Given the description of an element on the screen output the (x, y) to click on. 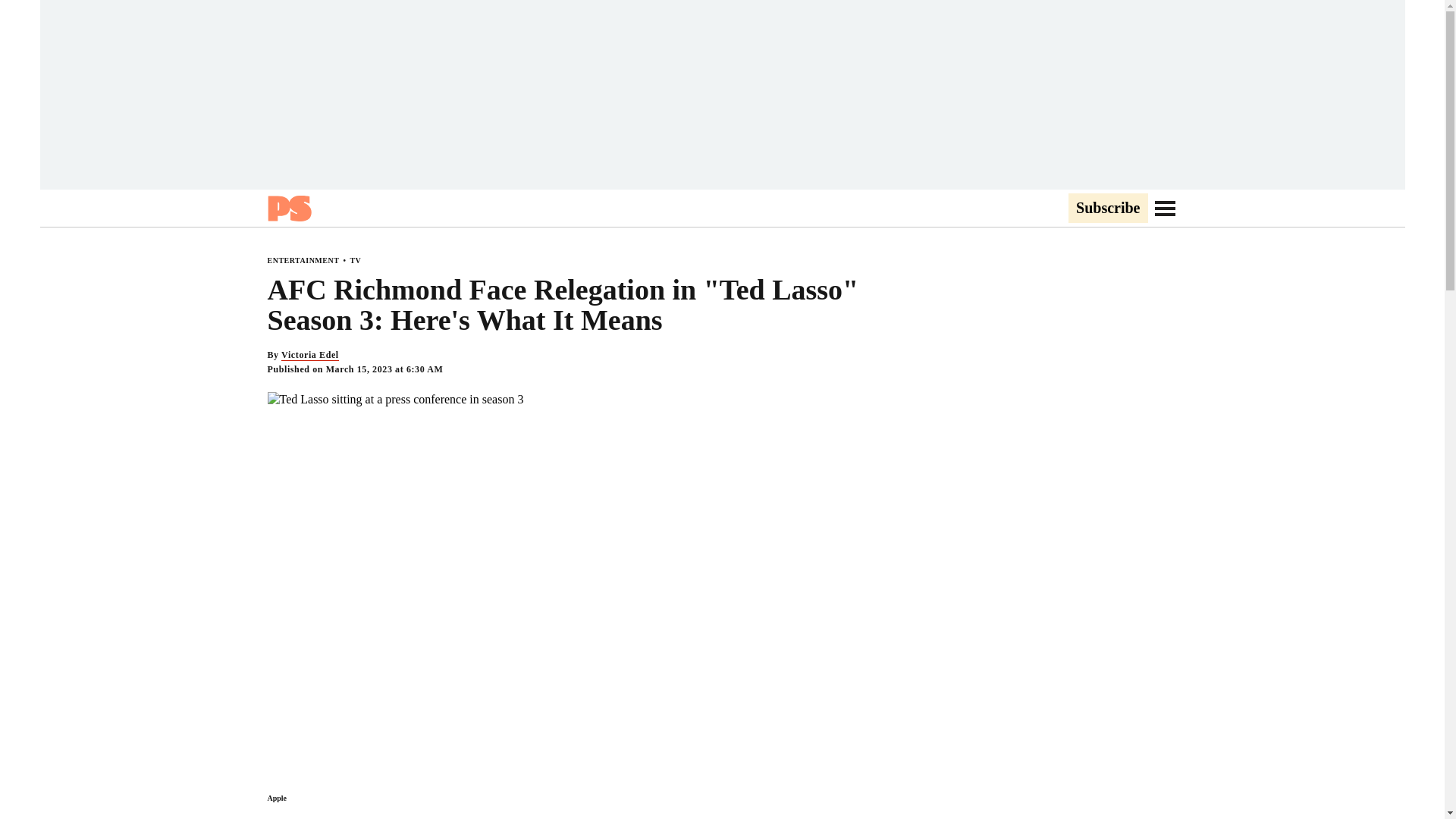
ENTERTAINMENT (302, 260)
Subscribe (1107, 208)
Go to Navigation (1164, 207)
Victoria Edel (310, 355)
Popsugar (288, 208)
Go to Navigation (1164, 207)
TV (355, 260)
Apple (276, 797)
